Given the description of an element on the screen output the (x, y) to click on. 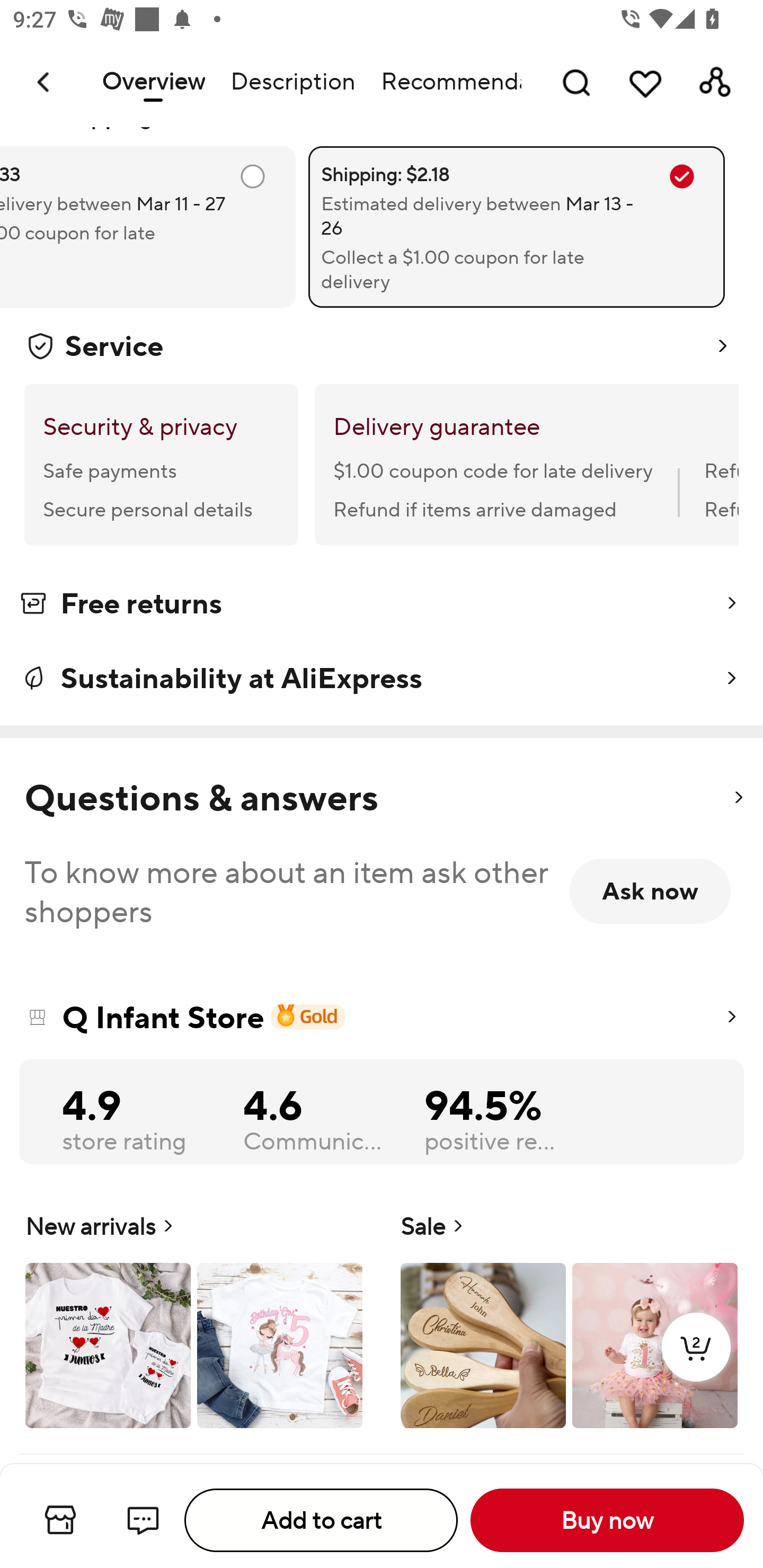
Navigate up (44, 82)
Description (292, 81)
Recommendations (444, 81)
Free returns  (381, 606)
Sustainability at AliExpress  (381, 677)
 (737, 797)
To know more about an item ask other shoppers (288, 890)
Ask now (649, 891)
New arrivals  (193, 1318)
Sale  (568, 1318)
2 (695, 1366)
Add to cart (320, 1520)
Buy now (606, 1520)
